Given the description of an element on the screen output the (x, y) to click on. 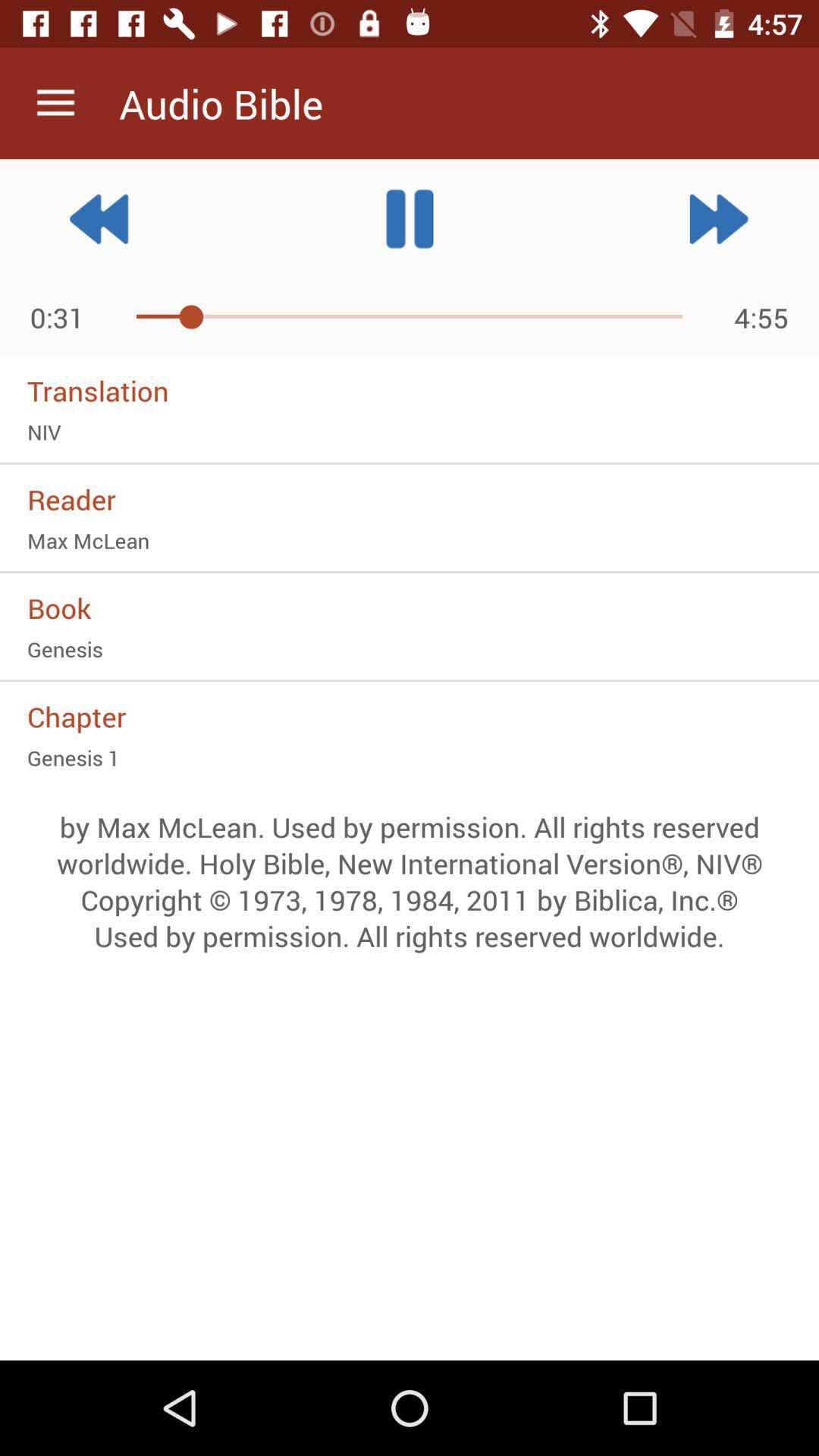
tap icon below the 0:32 item (409, 390)
